Given the description of an element on the screen output the (x, y) to click on. 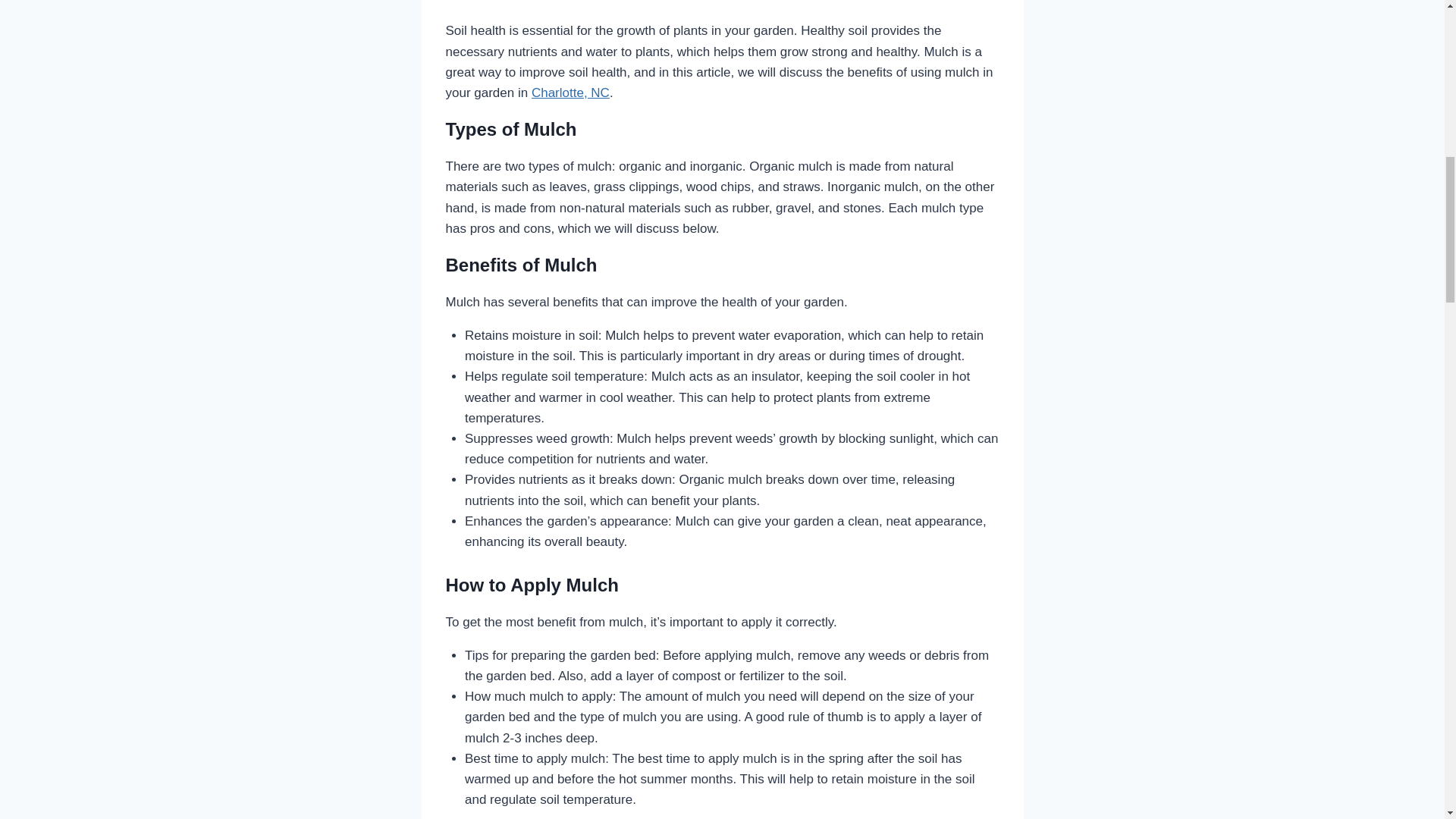
Charlotte, NC (570, 92)
